Given the description of an element on the screen output the (x, y) to click on. 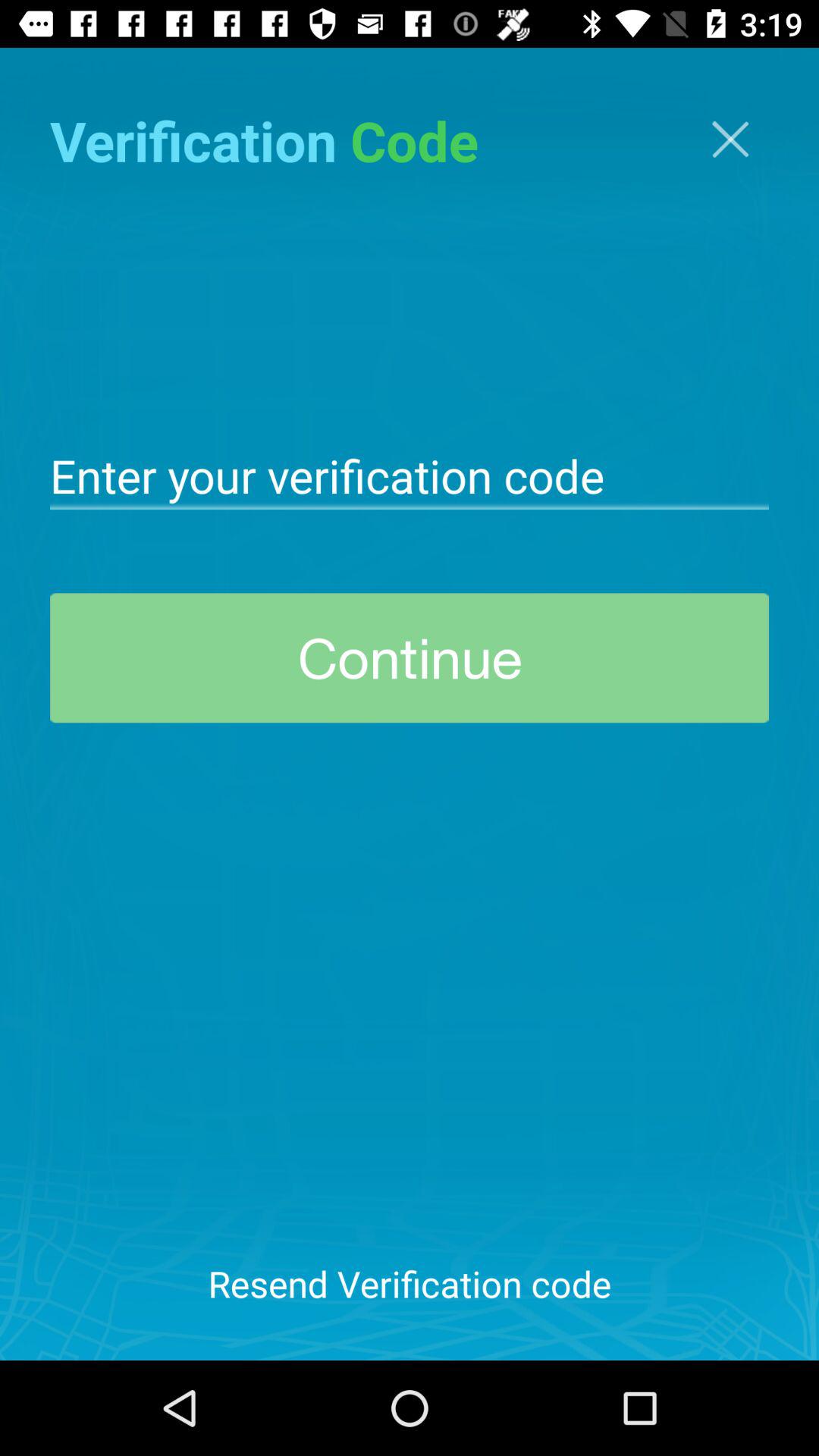
enter code (409, 474)
